Given the description of an element on the screen output the (x, y) to click on. 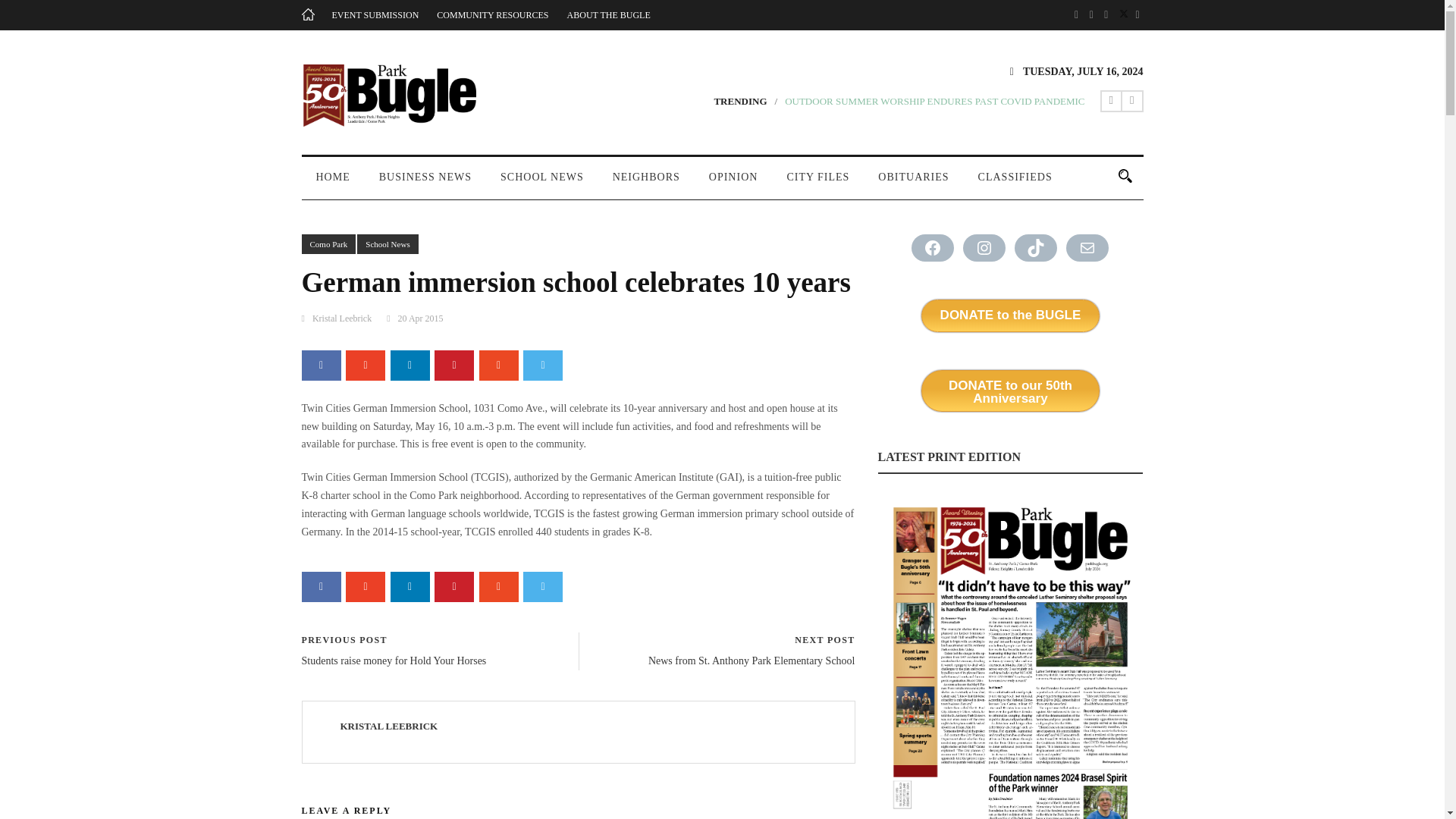
Posts by Kristal Leebrick (342, 317)
BUSINESS NEWS (425, 183)
Posts by Kristal Leebrick (388, 726)
HOME (333, 183)
OPINION (733, 183)
School News (386, 244)
ABOUT THE BUGLE (608, 15)
CITY FILES (817, 183)
OBITUARIES (912, 183)
Como Park (328, 244)
EVENT SUBMISSION (375, 15)
SCHOOL NEWS (542, 183)
COMMUNITY RESOURCES (492, 15)
OUTDOOR SUMMER WORSHIP ENDURES PAST COVID PANDEMIC (934, 101)
CLASSIFIEDS (1015, 183)
